Given the description of an element on the screen output the (x, y) to click on. 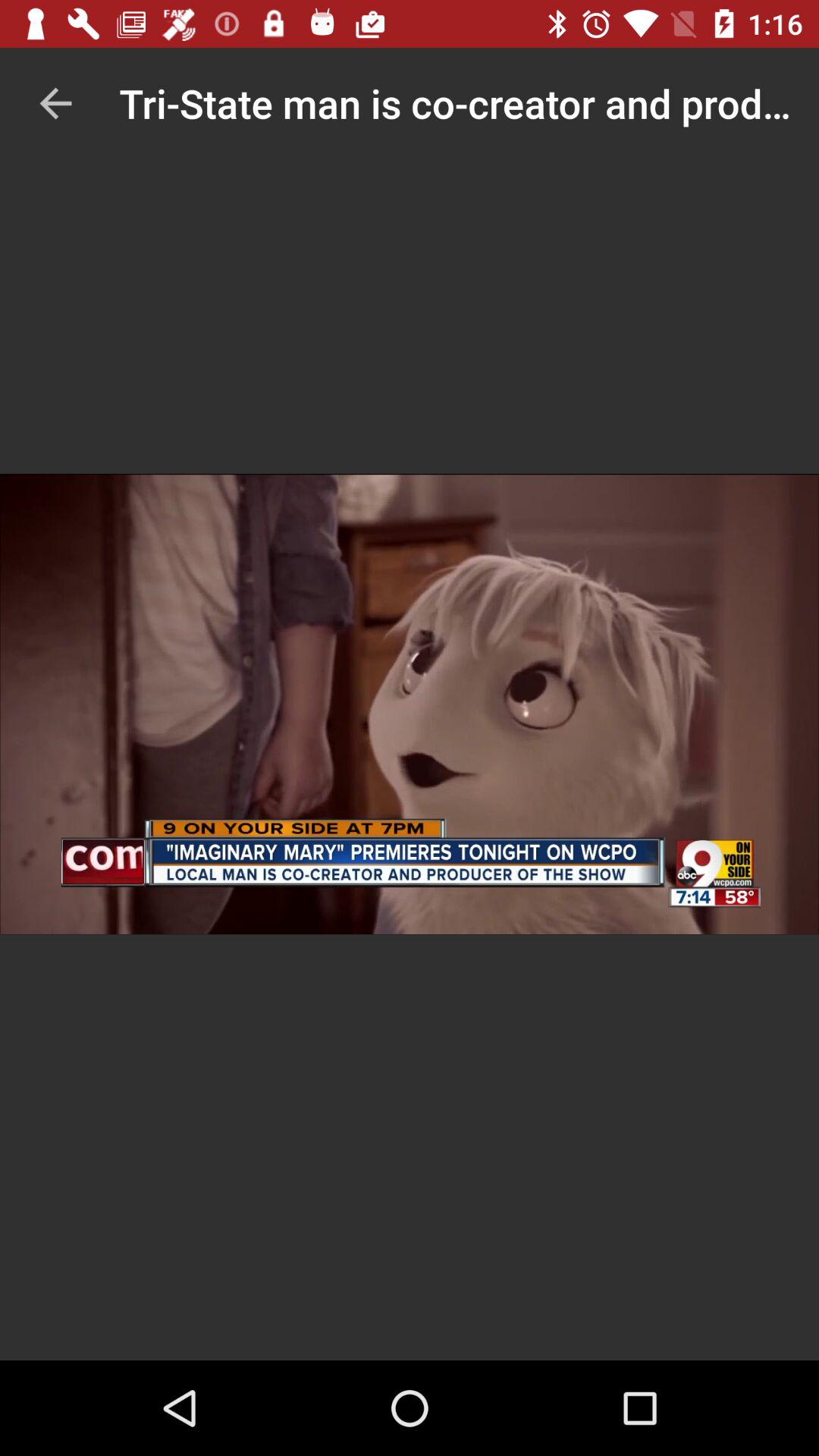
select icon at the top left corner (55, 103)
